Given the description of an element on the screen output the (x, y) to click on. 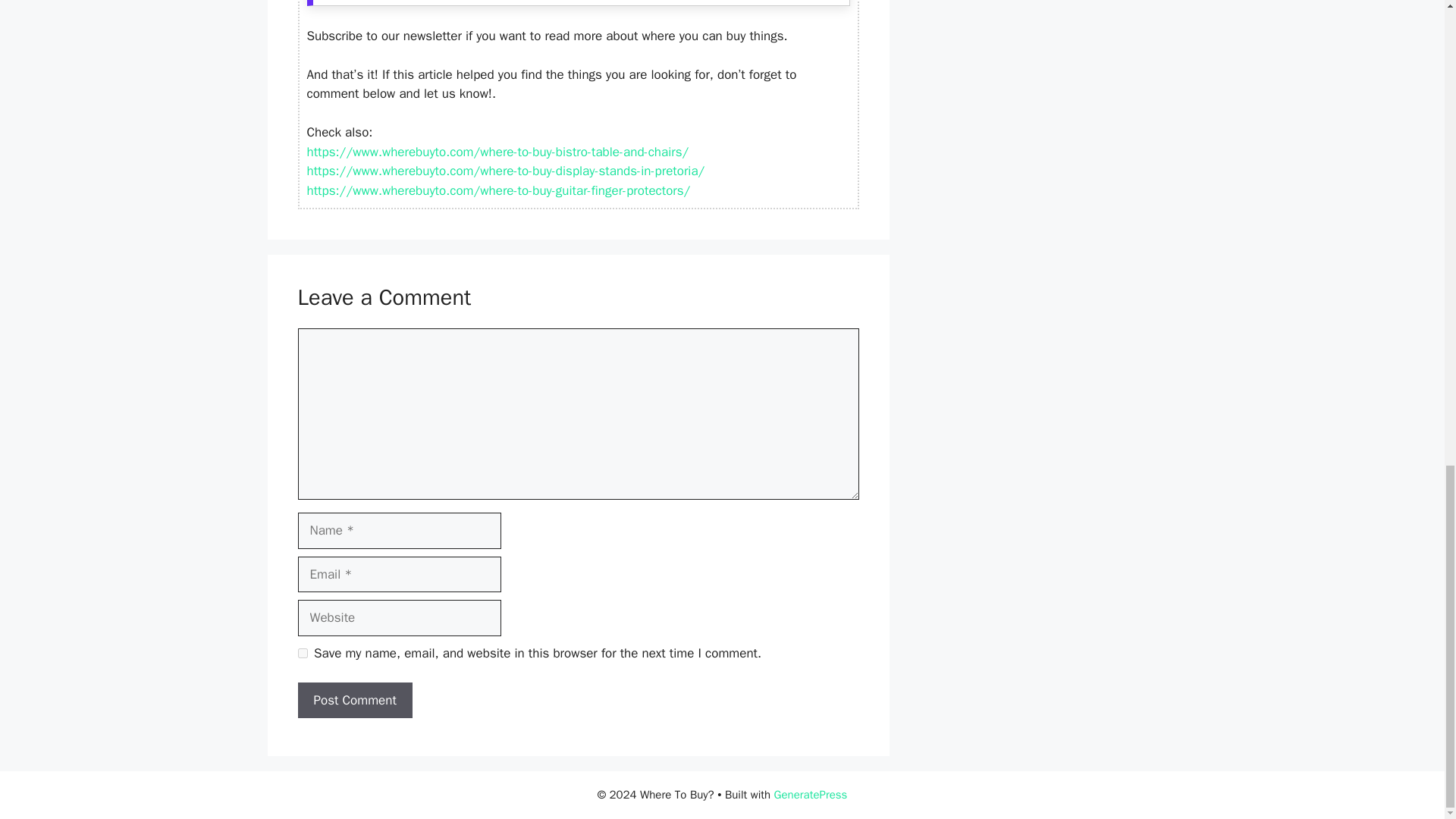
yes (302, 653)
GeneratePress (810, 794)
Post Comment (354, 700)
Post Comment (354, 700)
